Given the description of an element on the screen output the (x, y) to click on. 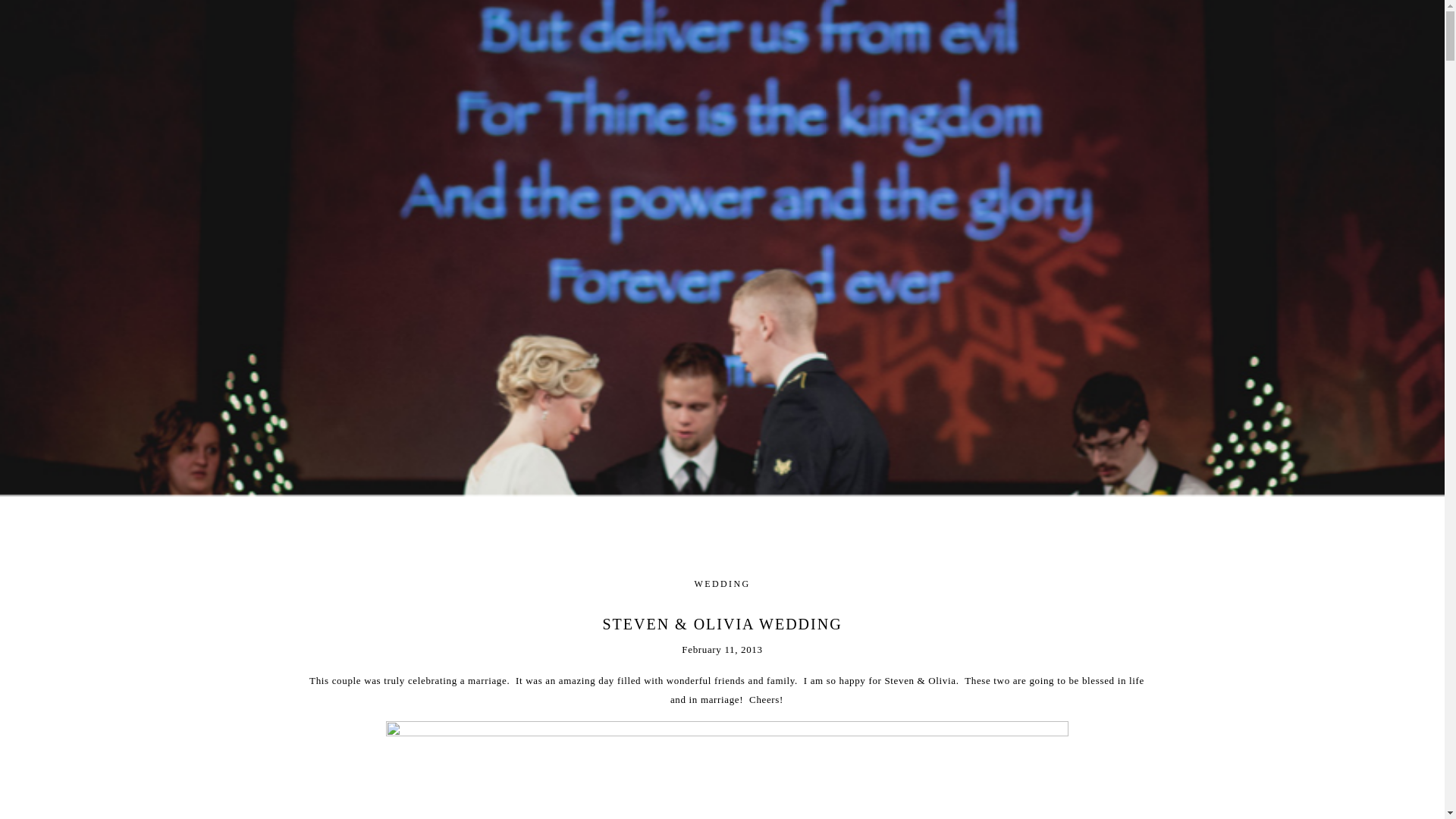
CONTACT (722, 17)
WEBSITE (525, 18)
WEDDING (721, 583)
JOURNAL (922, 18)
